Given the description of an element on the screen output the (x, y) to click on. 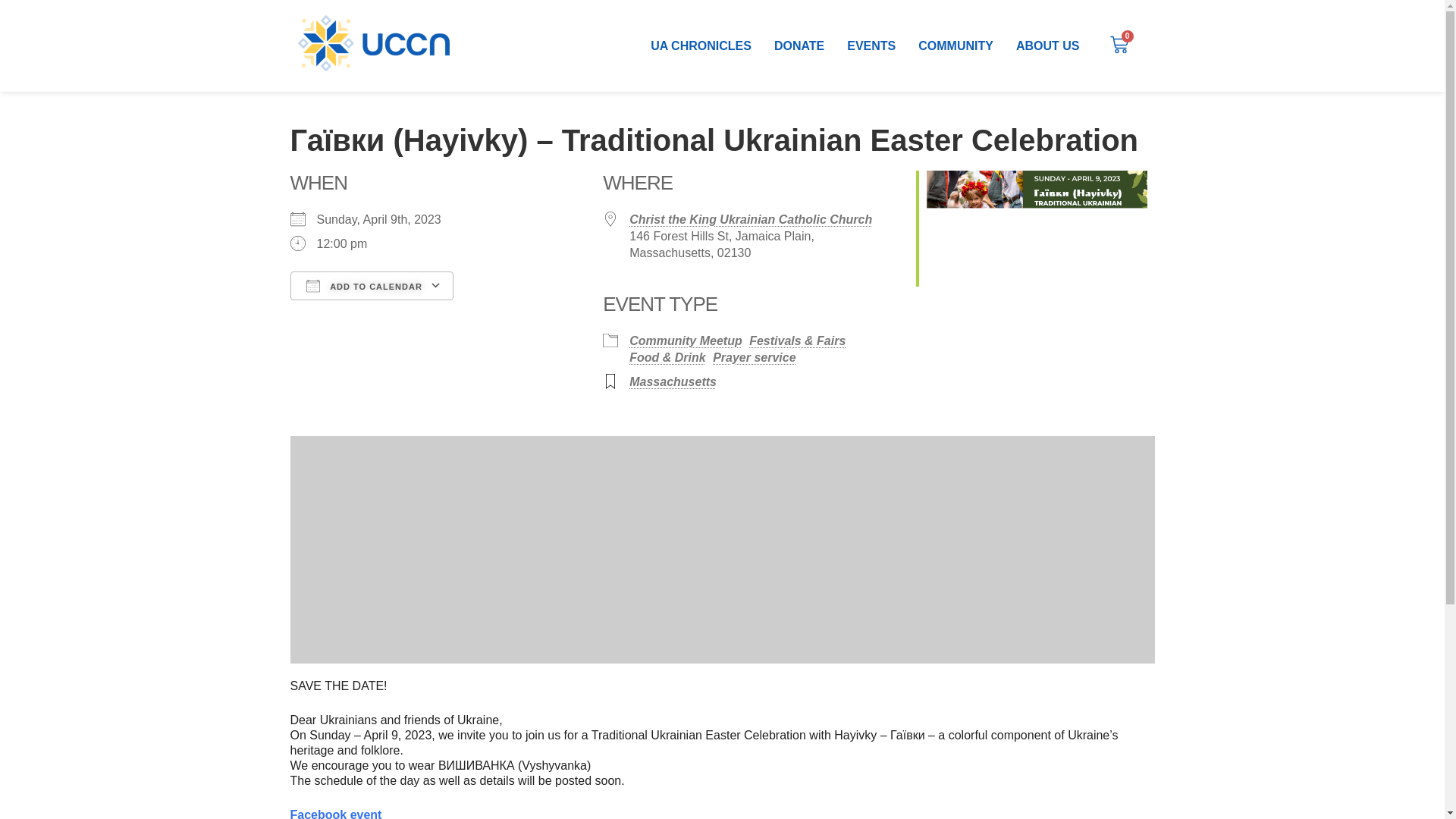
Community Meetup (684, 340)
Massachusetts (672, 381)
Facebook event (335, 813)
EVENTS (871, 45)
ADD TO CALENDAR (370, 285)
Prayer service (753, 357)
0 (1118, 45)
Christ the King Ukrainian Catholic Church (750, 219)
UA CHRONICLES (700, 45)
ABOUT US (1047, 45)
